Given the description of an element on the screen output the (x, y) to click on. 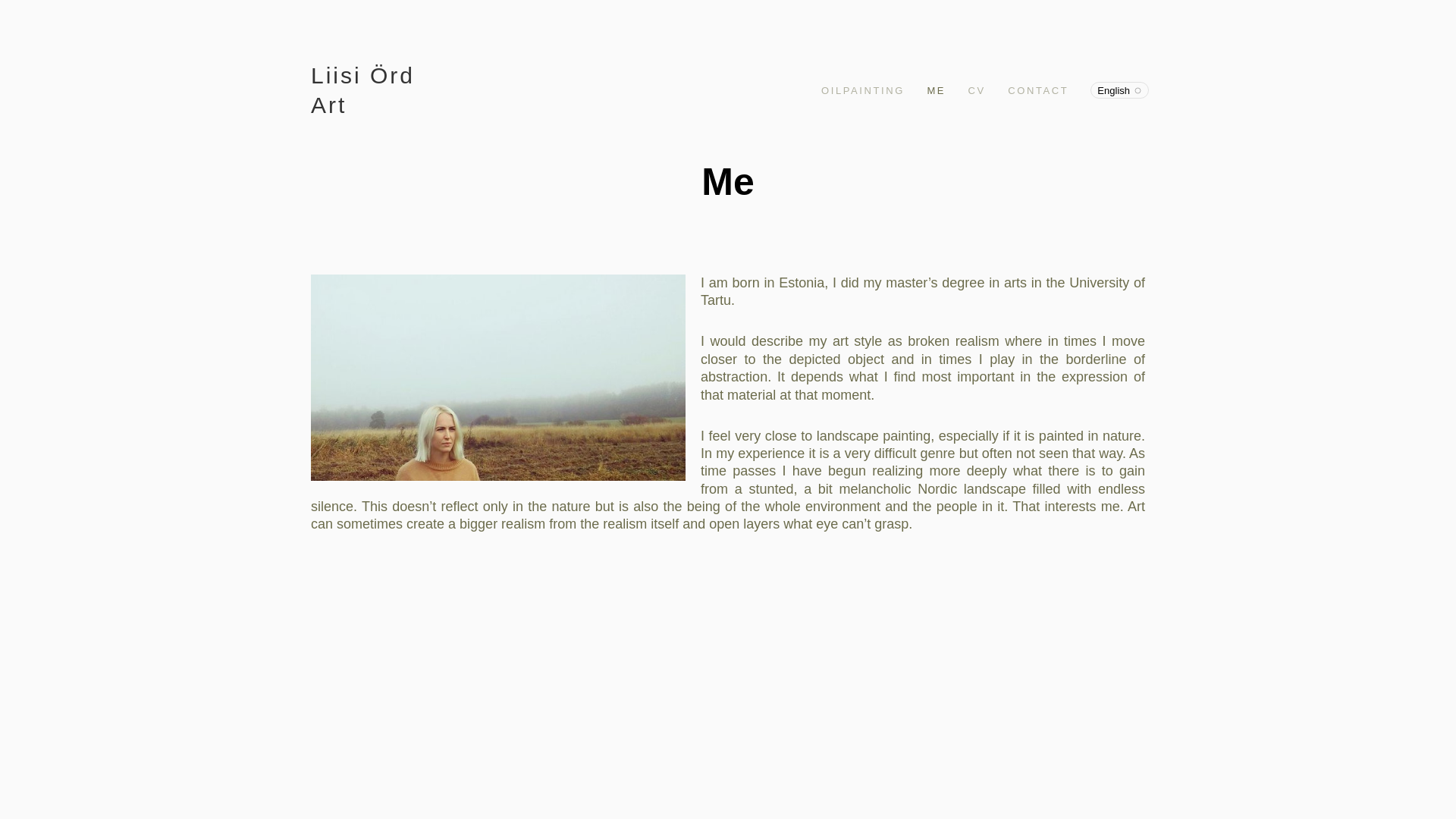
CONTACT (1037, 89)
ME (936, 89)
OILPAINTING (862, 89)
English (1119, 89)
CV (976, 89)
